Given the description of an element on the screen output the (x, y) to click on. 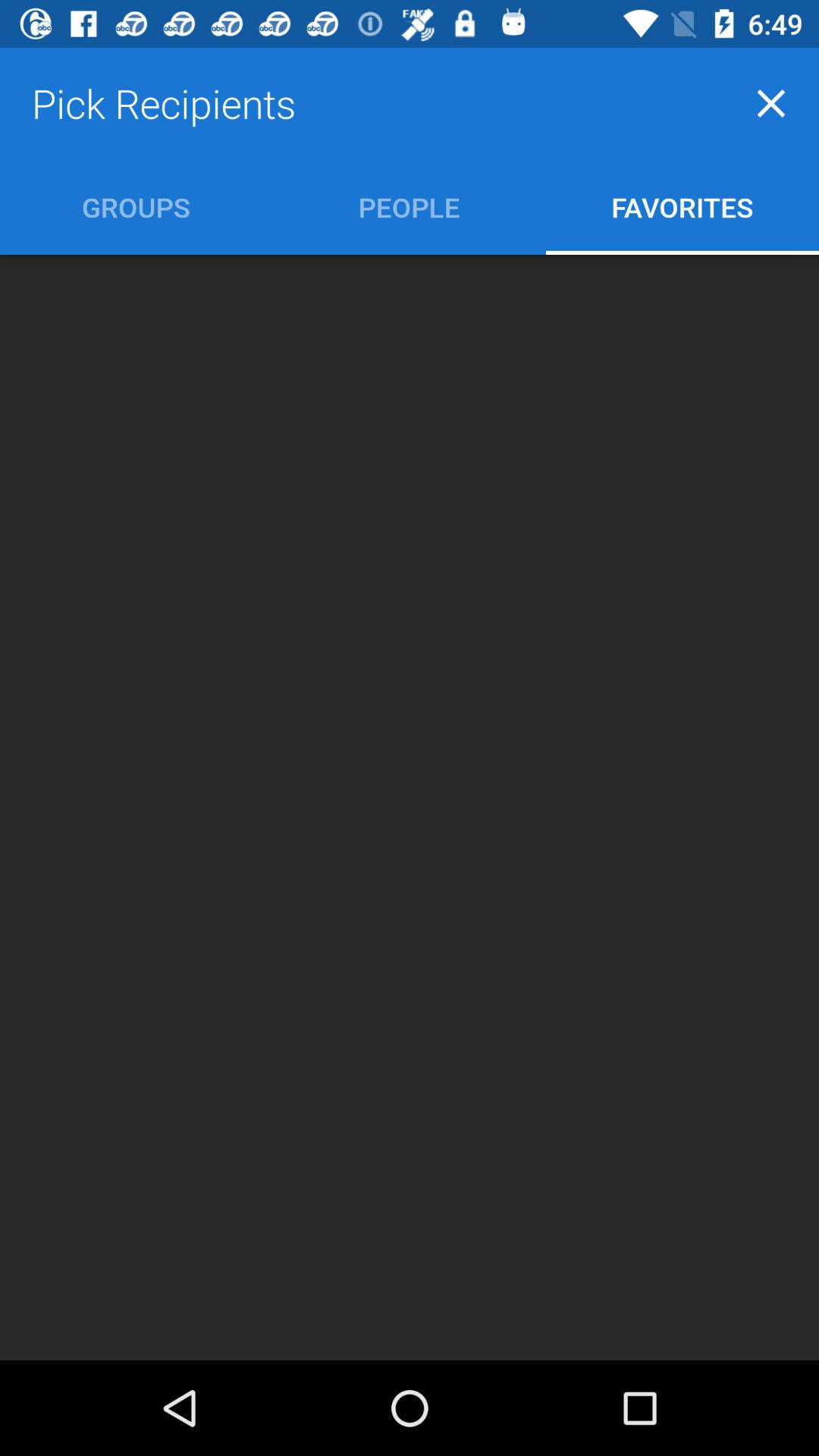
launch icon next to the pick recipients icon (771, 103)
